Given the description of an element on the screen output the (x, y) to click on. 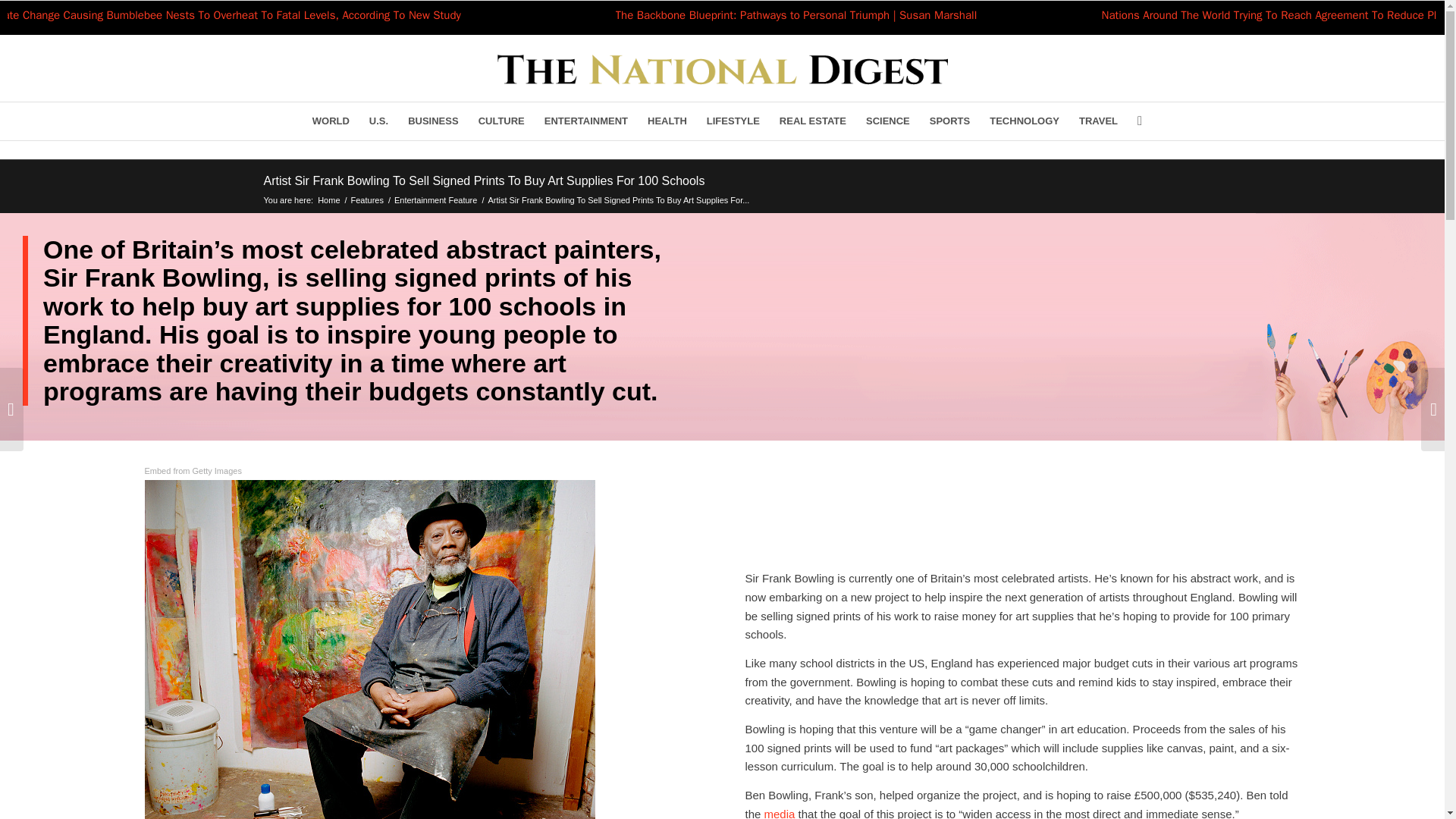
BUSINESS (432, 121)
Features (367, 199)
The National Digest (328, 199)
ENTERTAINMENT (585, 121)
TECHNOLOGY (1023, 121)
HEALTH (667, 121)
SPORTS (949, 121)
WORLD (330, 121)
SCIENCE (888, 121)
TRAVEL (1097, 121)
Home (328, 199)
REAL ESTATE (813, 121)
Entertainment Feature (435, 199)
U.S. (378, 121)
LIFESTYLE (733, 121)
